Given the description of an element on the screen output the (x, y) to click on. 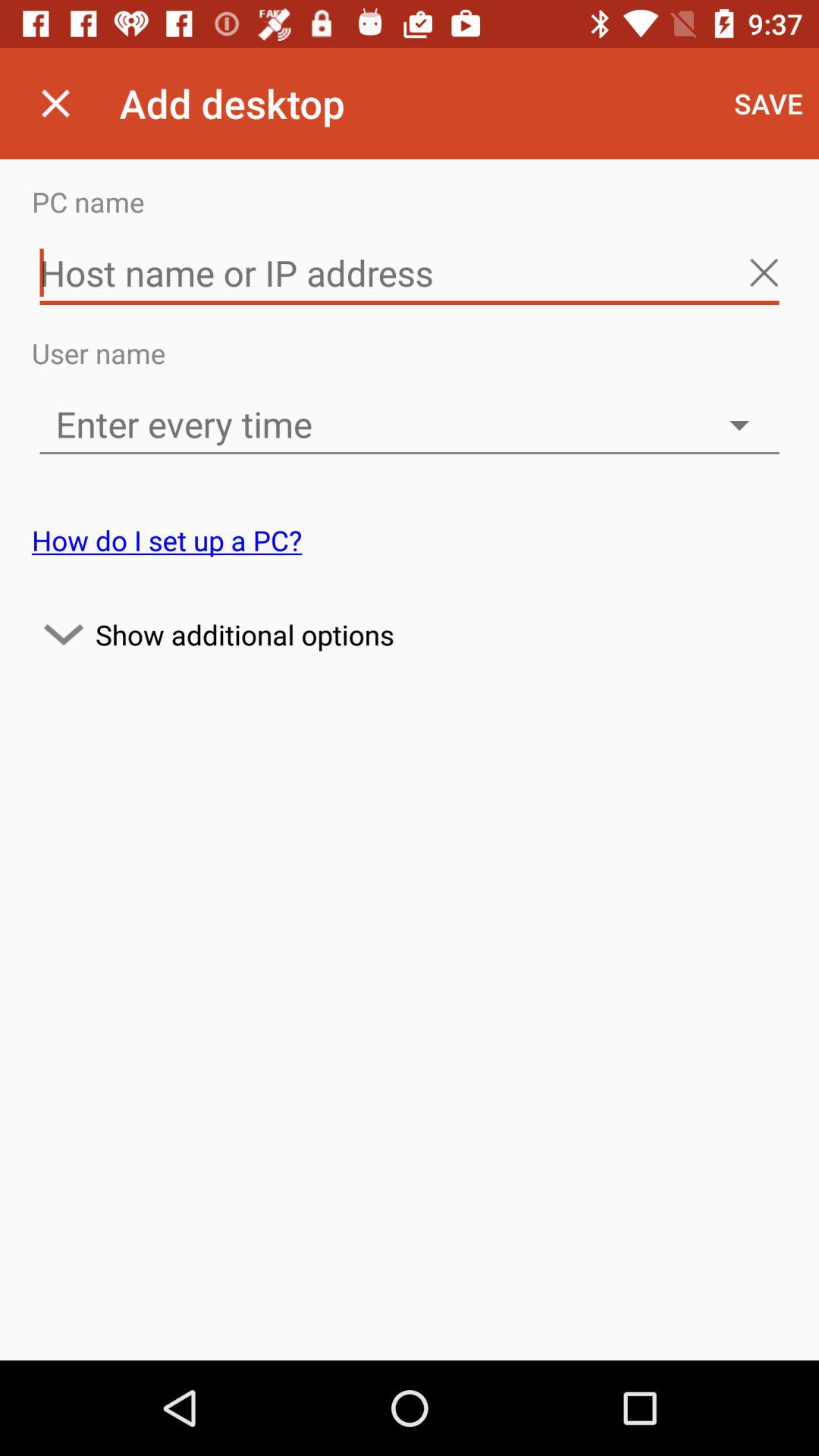
open the how do i on the left (166, 540)
